Given the description of an element on the screen output the (x, y) to click on. 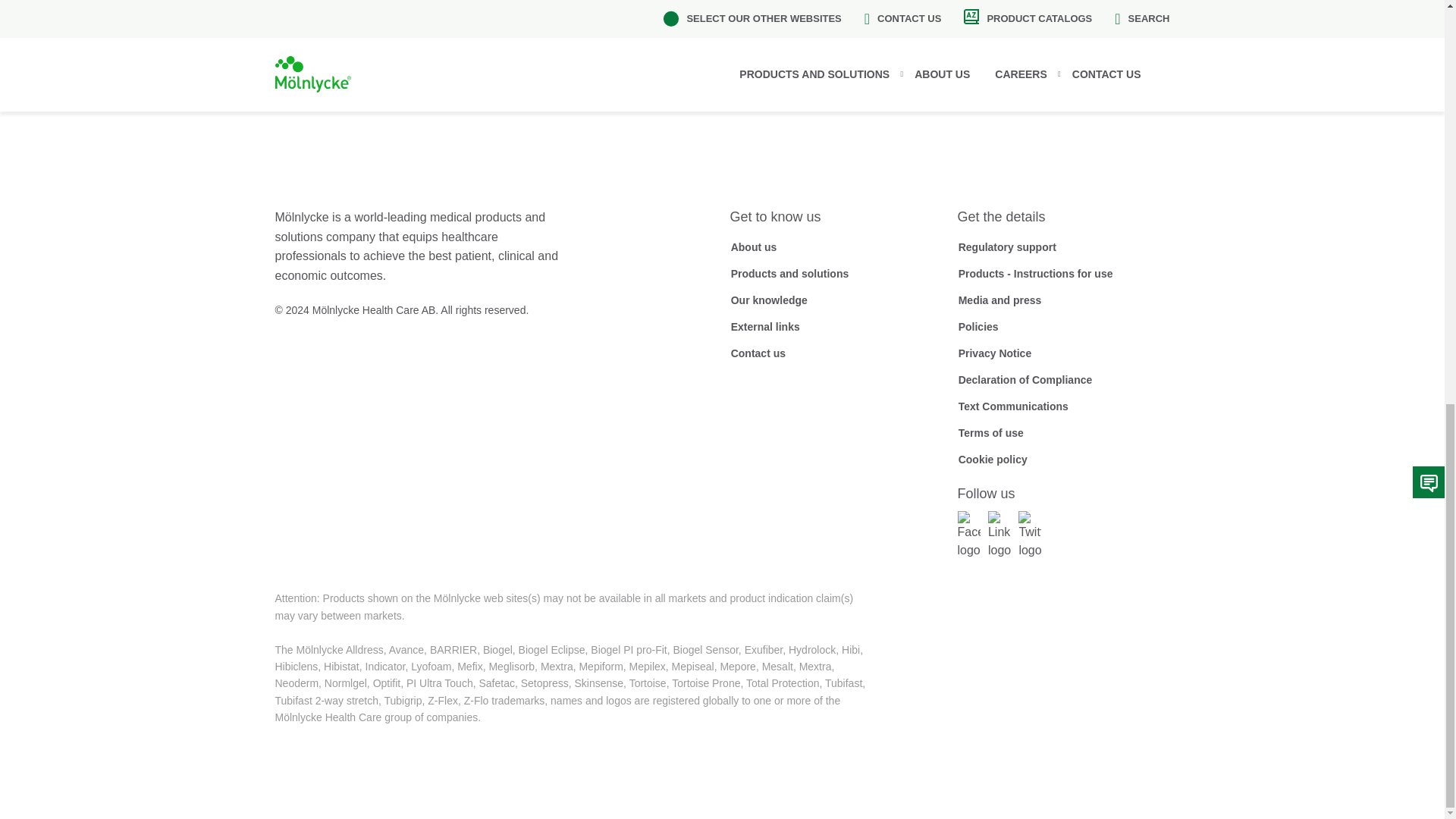
IFU (1035, 273)
Declaration of Compliance (1024, 379)
Terms of use (990, 433)
Cookie policy (992, 459)
Read more about products and solutions (789, 273)
Media and press (999, 299)
External links (765, 326)
Policies (977, 326)
